Given the description of an element on the screen output the (x, y) to click on. 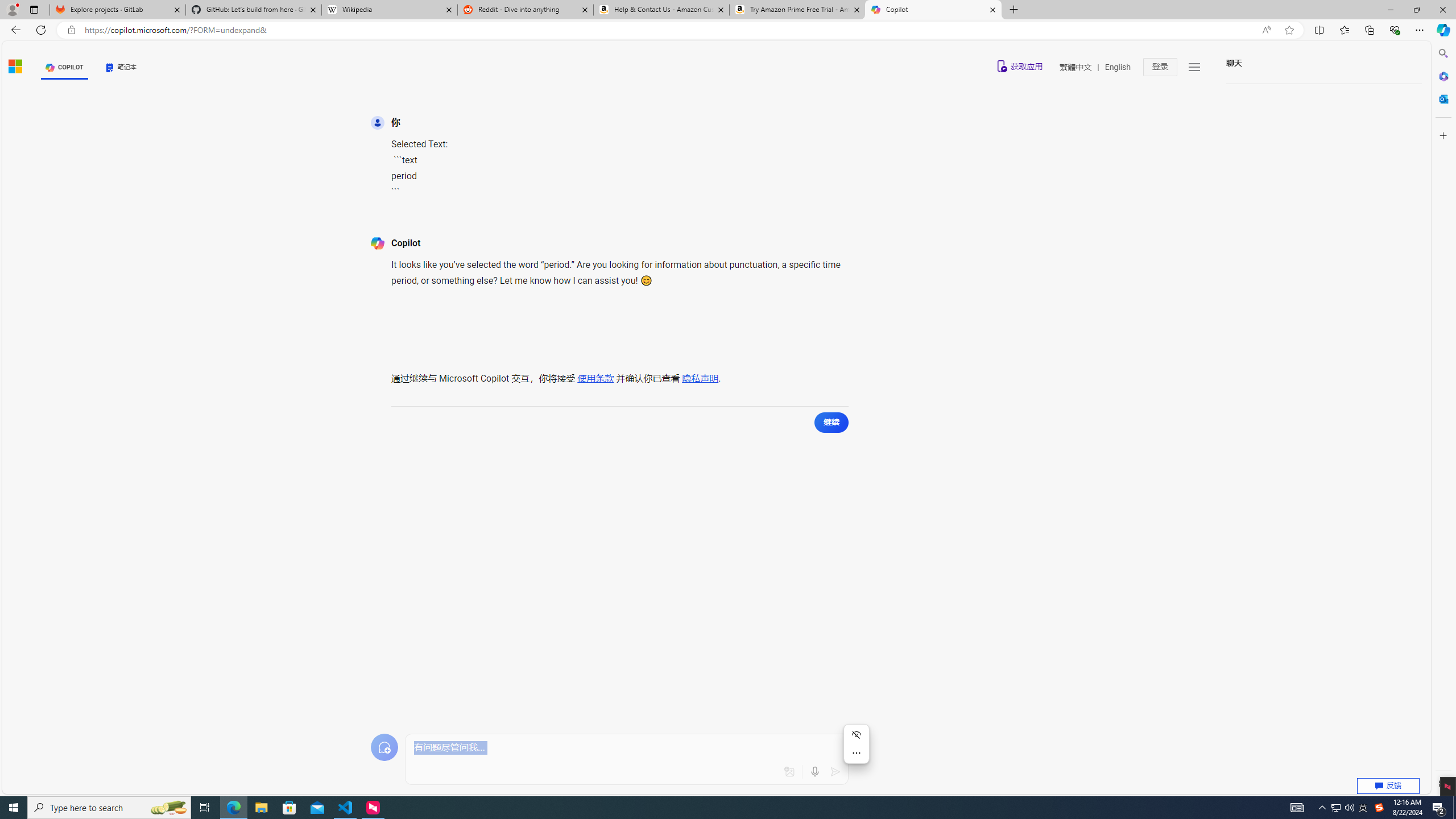
COPILOT (64, 67)
Copilot (933, 9)
